Given the description of an element on the screen output the (x, y) to click on. 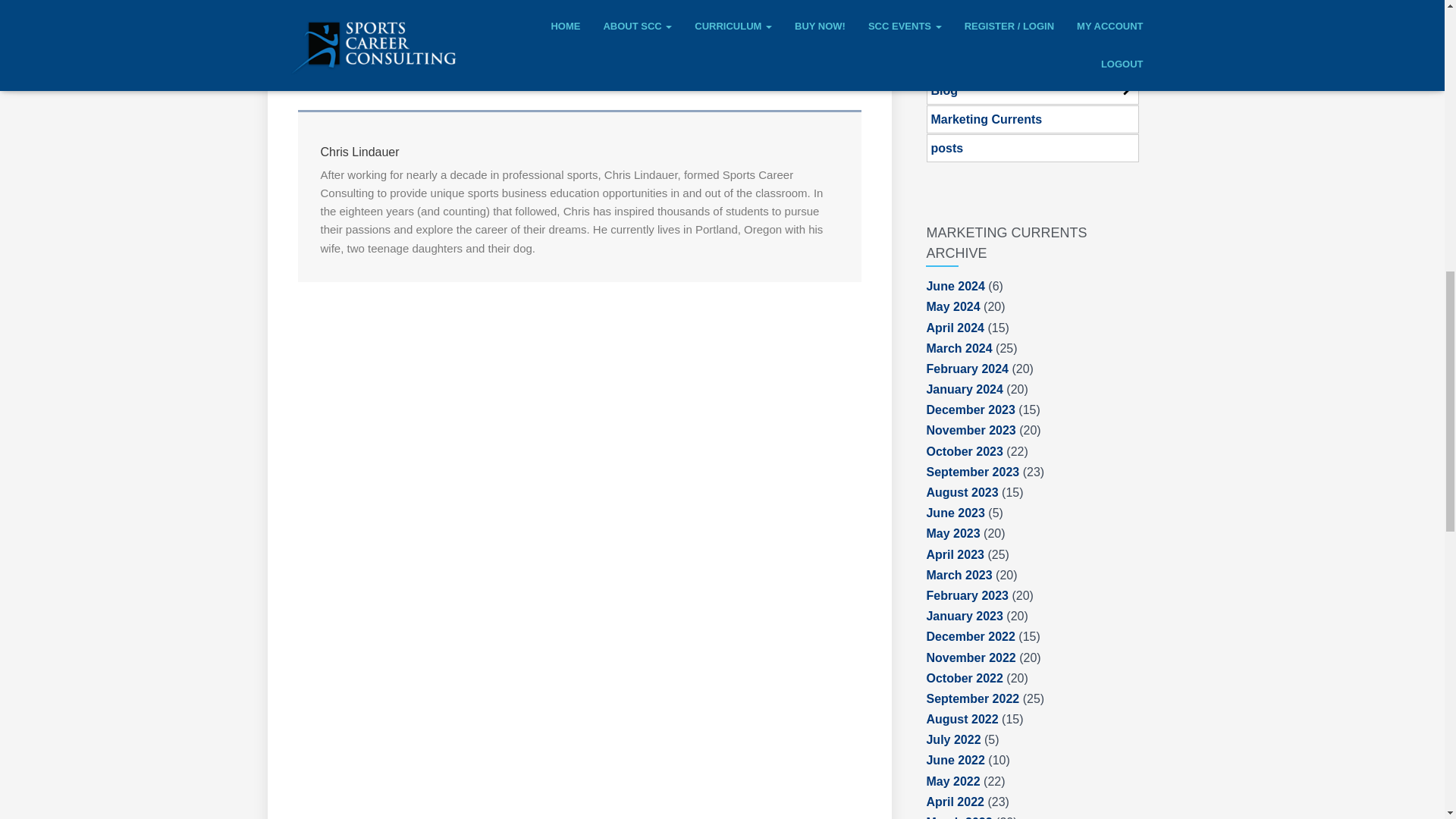
Blog (944, 90)
Marketing Currents (986, 119)
